Given the description of an element on the screen output the (x, y) to click on. 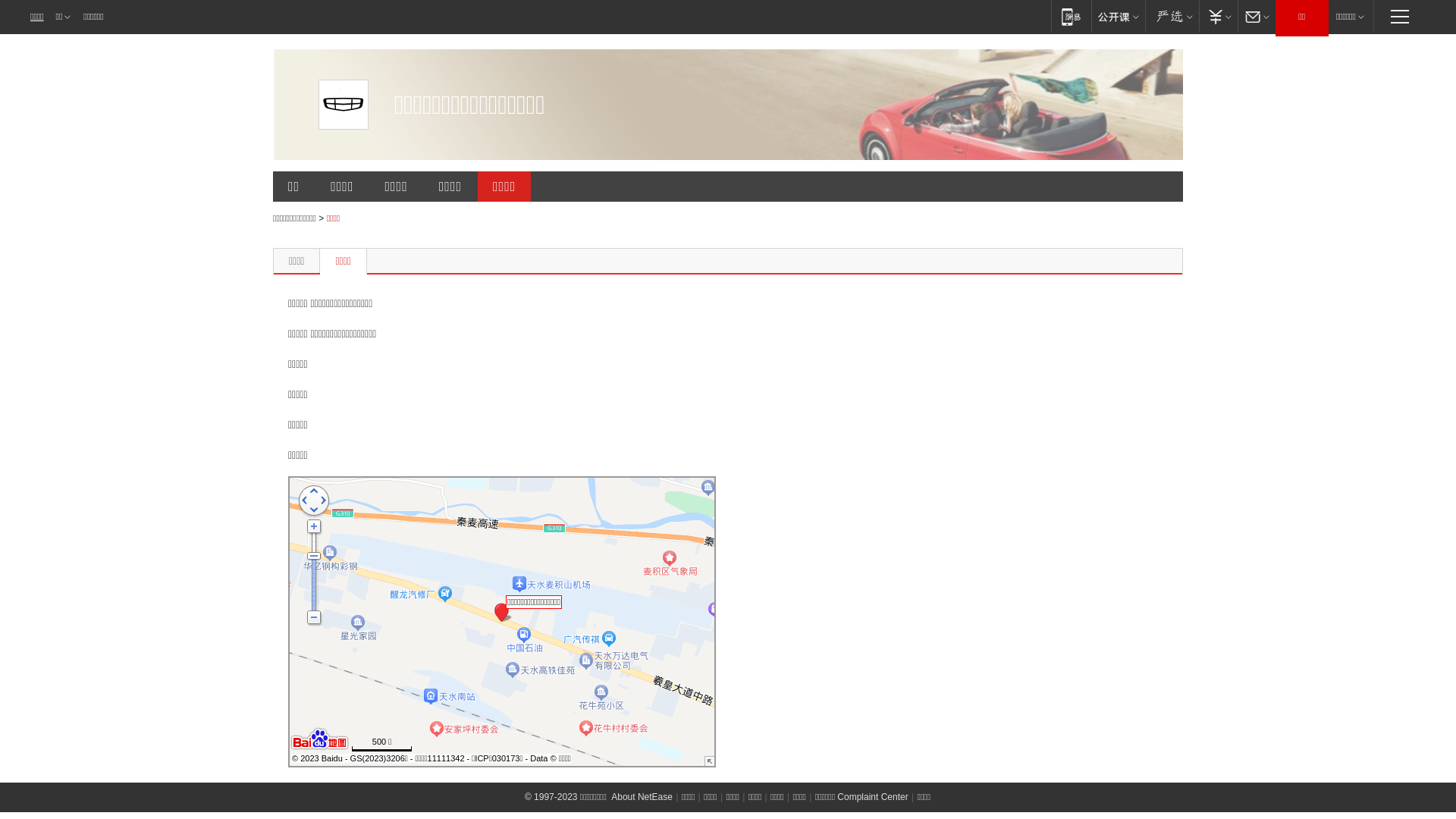
About NetEase Element type: text (641, 796)
